Given the description of an element on the screen output the (x, y) to click on. 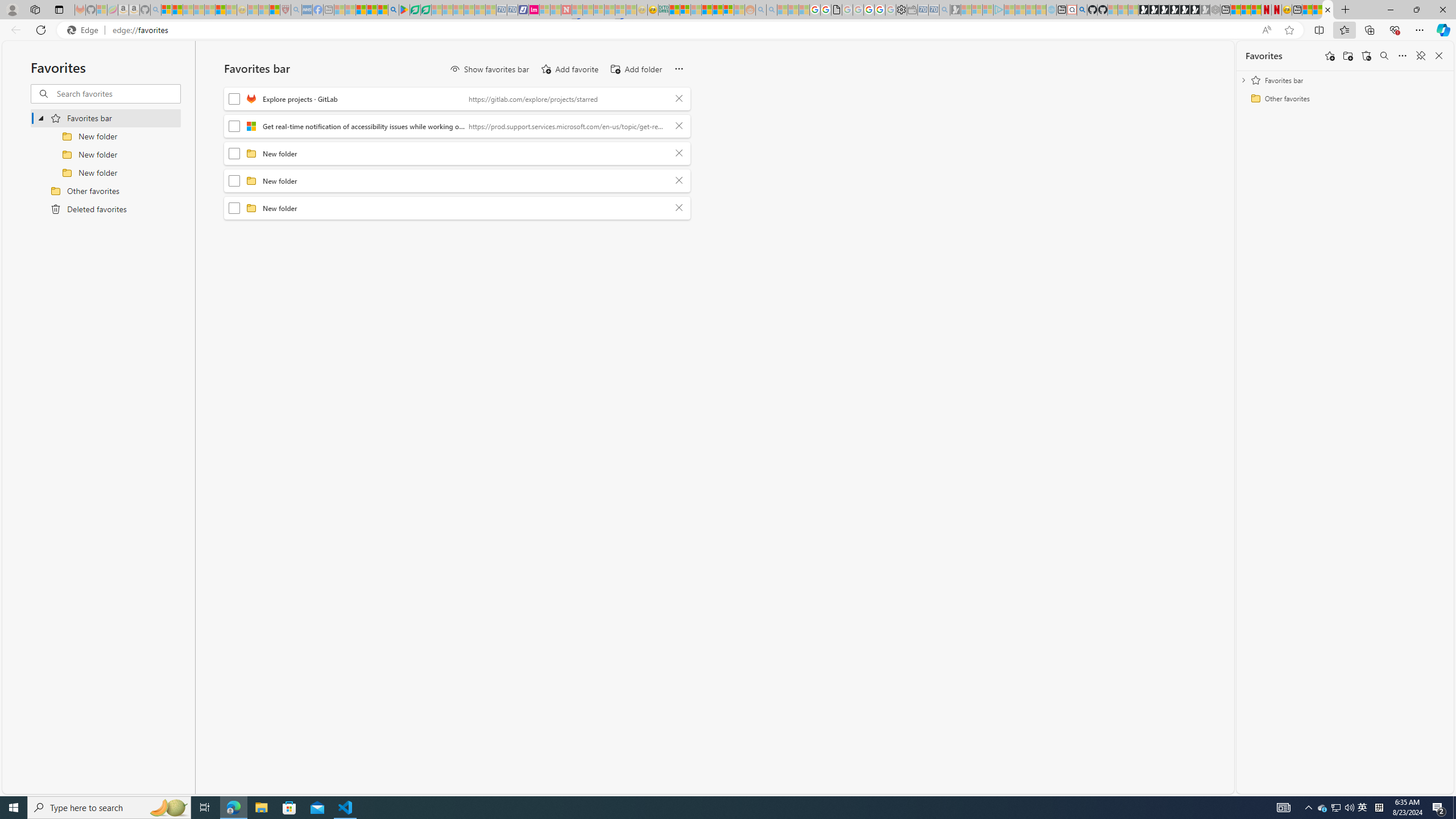
Trusted Community Engagement and Contributions | Guidelines (577, 9)
Address and search bar (683, 29)
google_privacy_policy_zh-CN.pdf (837, 9)
Terms of Use Agreement (414, 9)
